Given the description of an element on the screen output the (x, y) to click on. 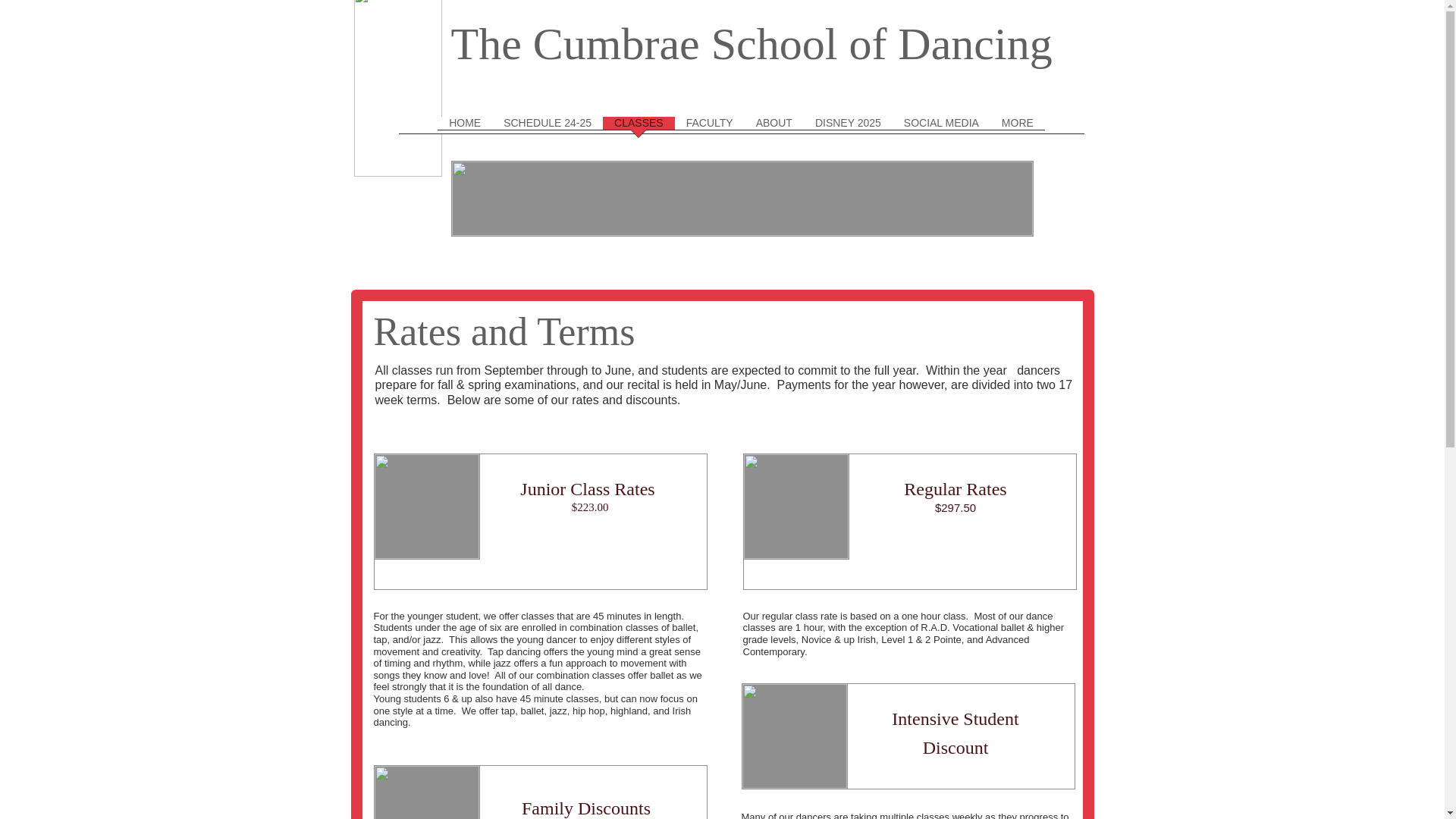
CLASSES (638, 130)
DISNEY 2025 (847, 130)
FACULTY (709, 130)
SCHEDULE 24-25 (547, 130)
dance studio orleans (740, 198)
SOCIAL MEDIA (941, 130)
ABOUT (773, 130)
HOME (465, 130)
